Given the description of an element on the screen output the (x, y) to click on. 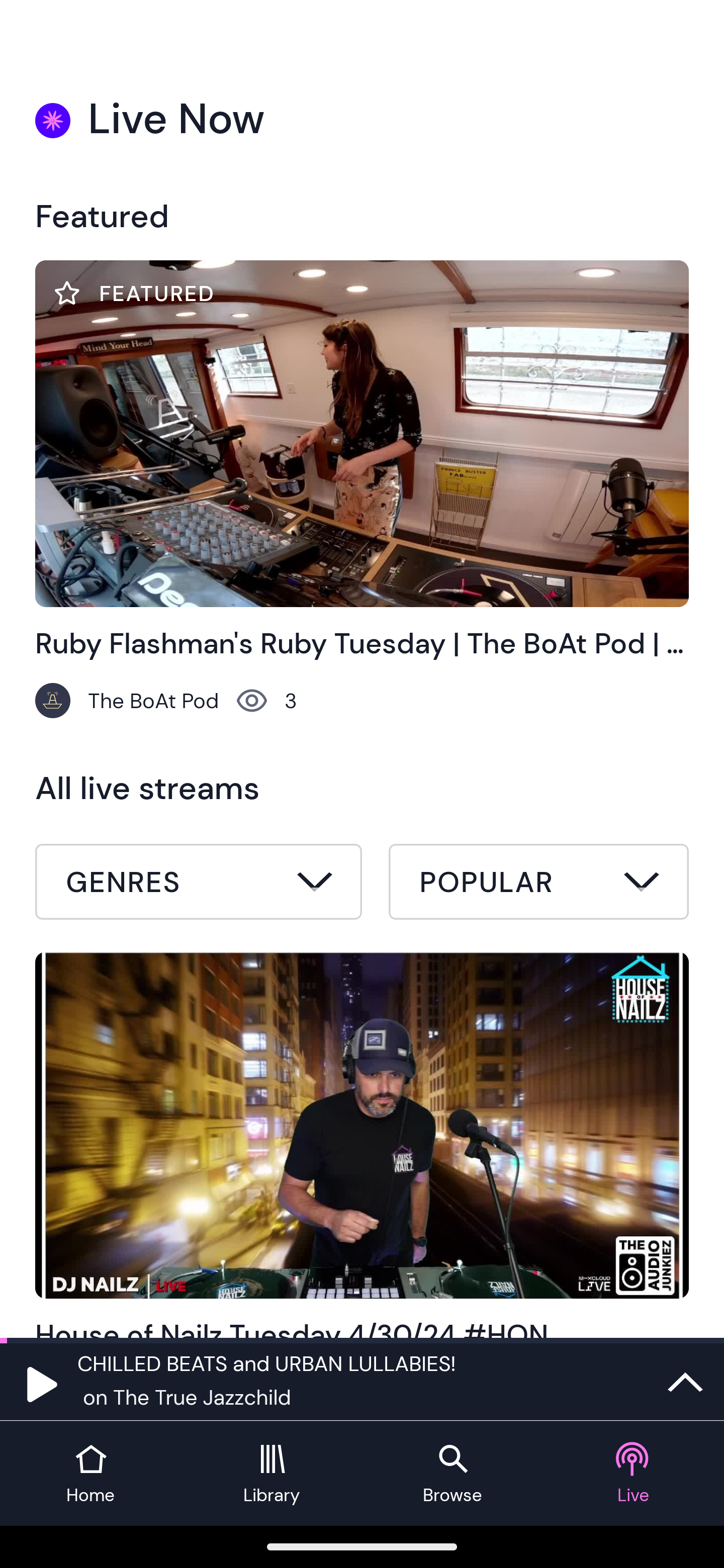
Filter by button All (198, 884)
Filter by button GENRES (198, 881)
Sort by button Popular (538, 884)
Sort by button POPULAR (538, 881)
Home tab Home (90, 1473)
Library tab Library (271, 1473)
Browse tab Browse (452, 1473)
Live tab Live (633, 1473)
